Given the description of an element on the screen output the (x, y) to click on. 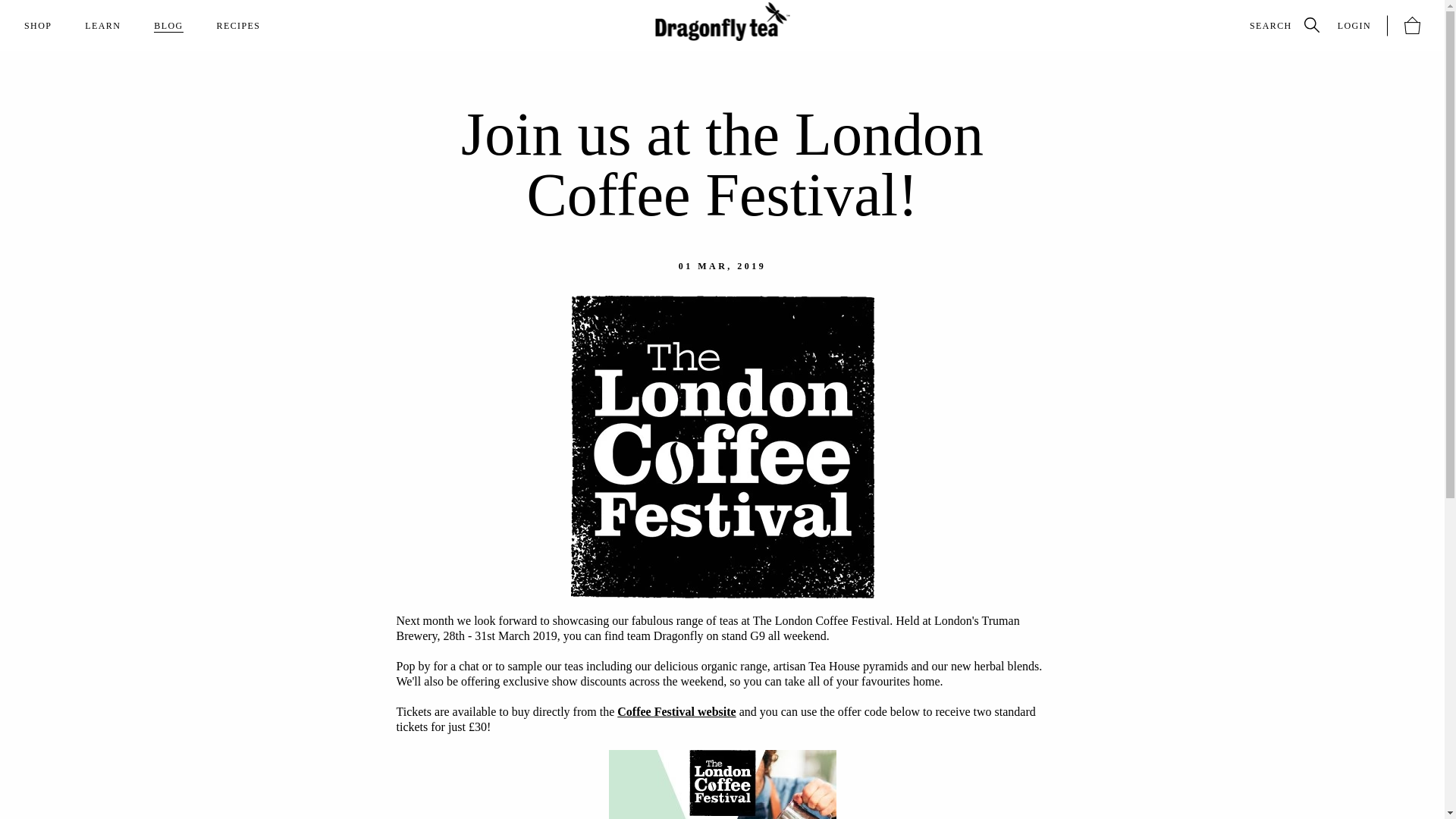
LEARN (102, 25)
Dragonfly tea logo (722, 21)
SHOP (37, 25)
